Given the description of an element on the screen output the (x, y) to click on. 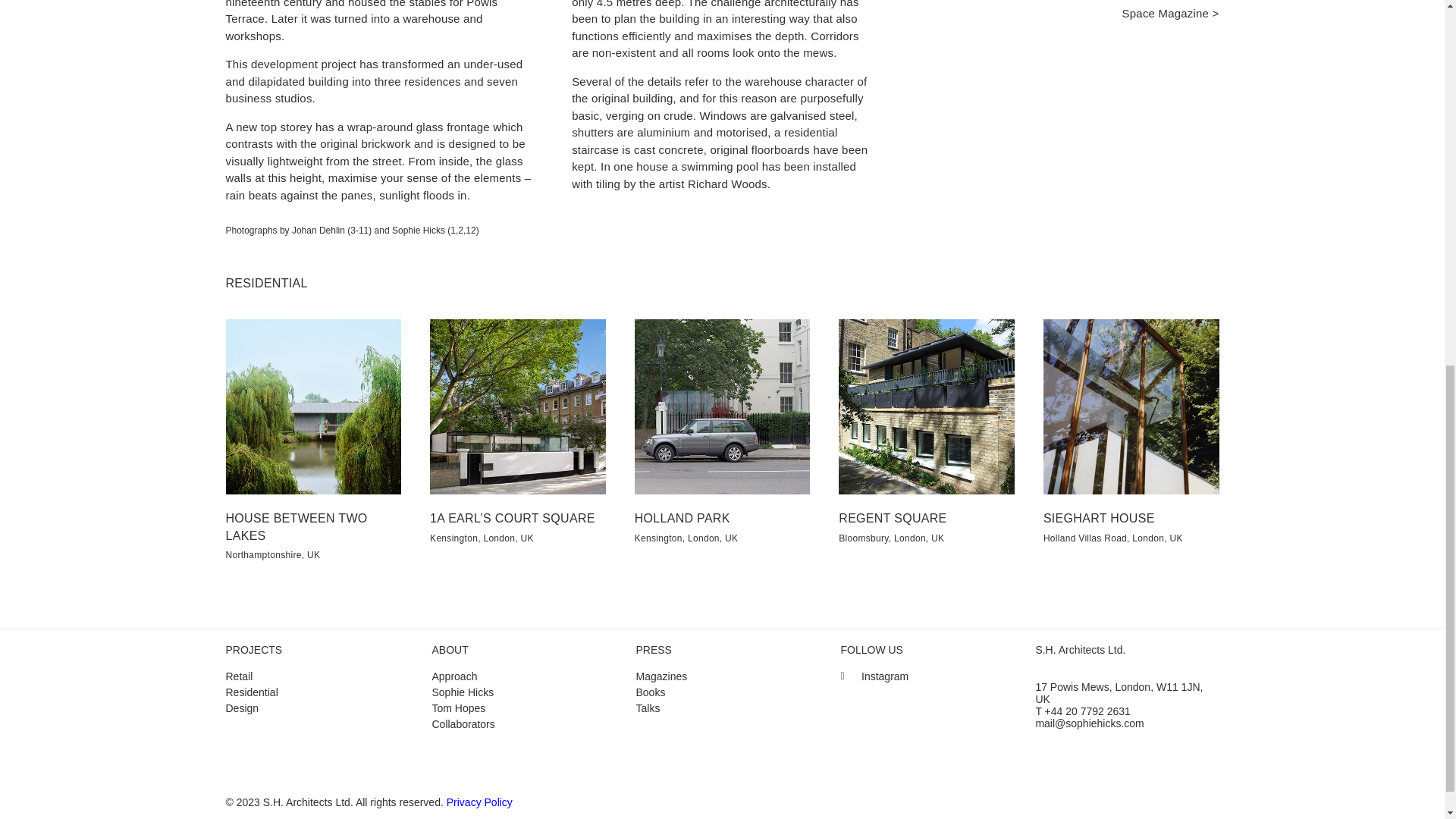
HOUSE BETWEEN TWO LAKES (296, 526)
REGENT SQUARE (892, 517)
HOLLAND PARK (682, 517)
